Given the description of an element on the screen output the (x, y) to click on. 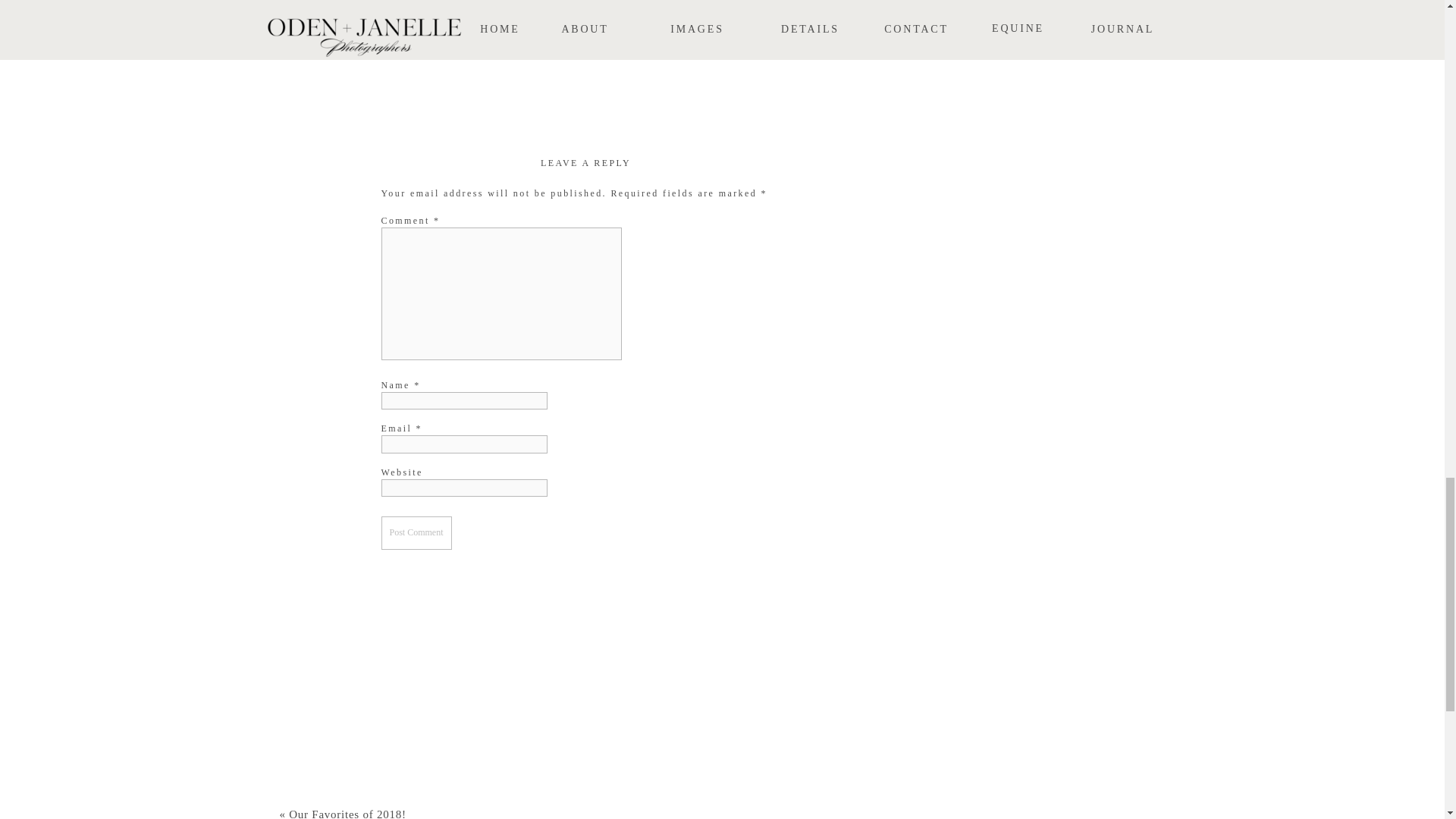
Our Favorites of 2018! (347, 813)
Post Comment (415, 532)
Post Comment (415, 532)
